Given the description of an element on the screen output the (x, y) to click on. 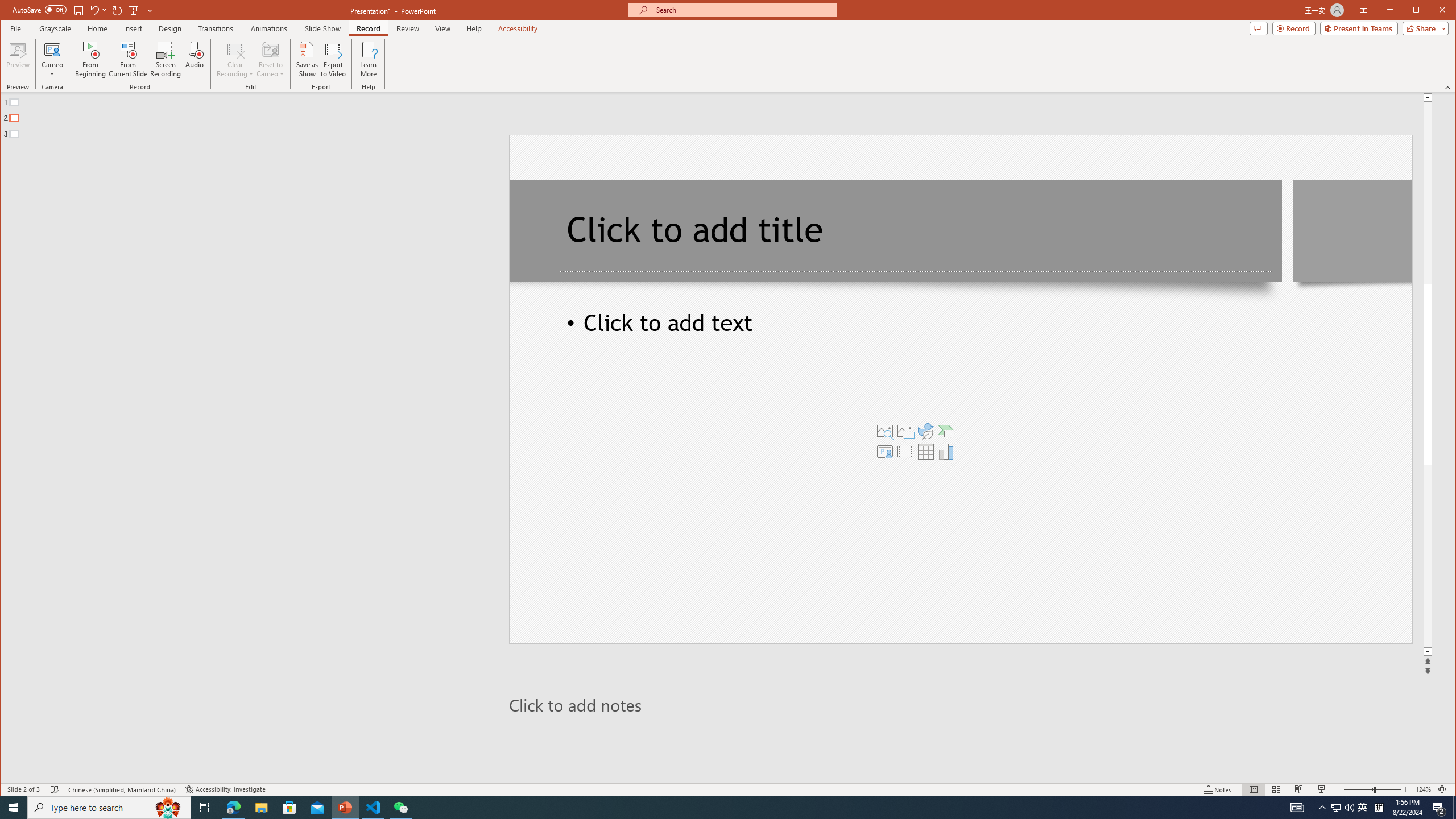
Save as Show (307, 59)
Insert Cameo (884, 451)
Grayscale (55, 28)
Insert Table (925, 451)
Insert a SmartArt Graphic (946, 430)
